Given the description of an element on the screen output the (x, y) to click on. 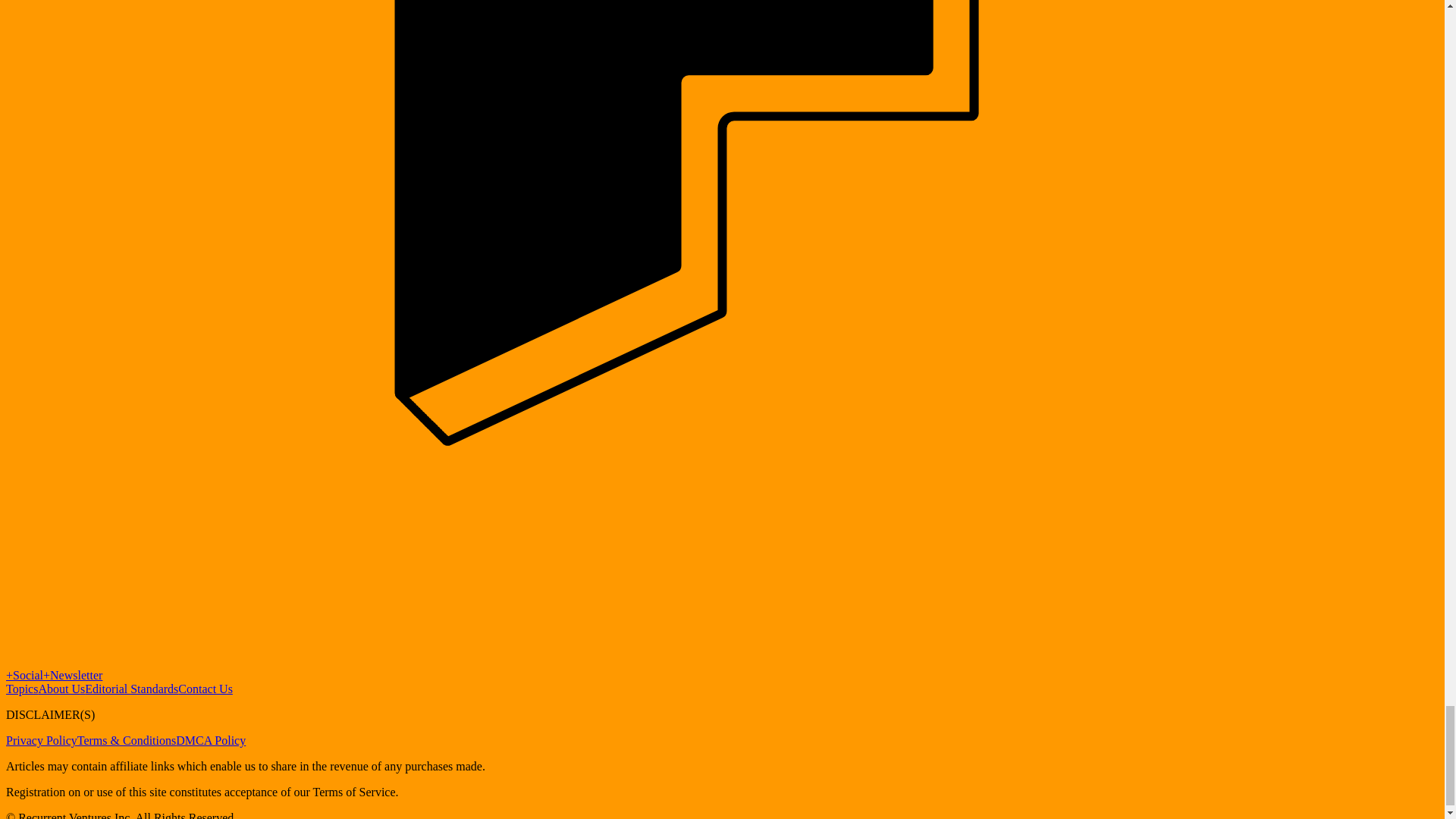
Topics (21, 688)
Contact Us (204, 688)
Privacy Policy (41, 739)
Editorial Standards (130, 688)
DMCA Policy (211, 739)
About Us (60, 688)
